Given the description of an element on the screen output the (x, y) to click on. 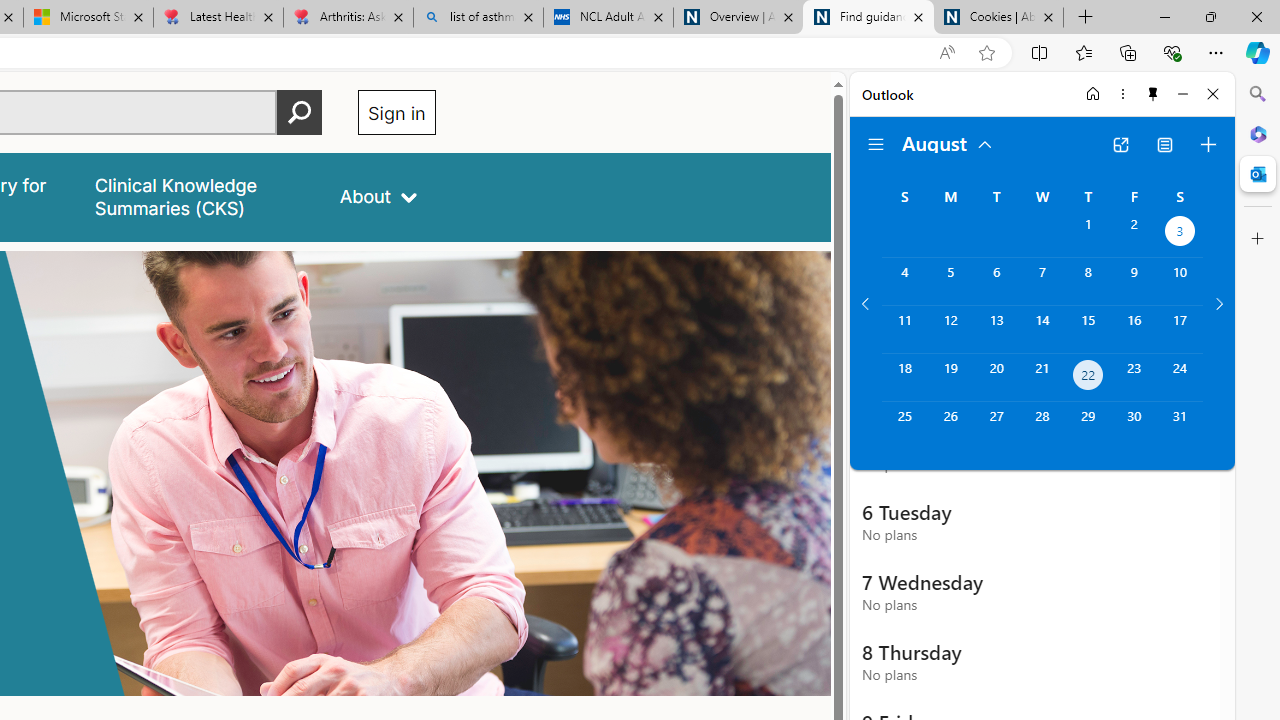
Sunday, August 4, 2024.  (904, 281)
Folder navigation (876, 144)
Tuesday, August 13, 2024.  (996, 329)
Monday, August 12, 2024.  (950, 329)
Monday, August 19, 2024.  (950, 377)
View Switcher. Current view is Agenda view (1165, 144)
Wednesday, August 7, 2024.  (1042, 281)
Saturday, August 10, 2024.  (1180, 281)
